Given the description of an element on the screen output the (x, y) to click on. 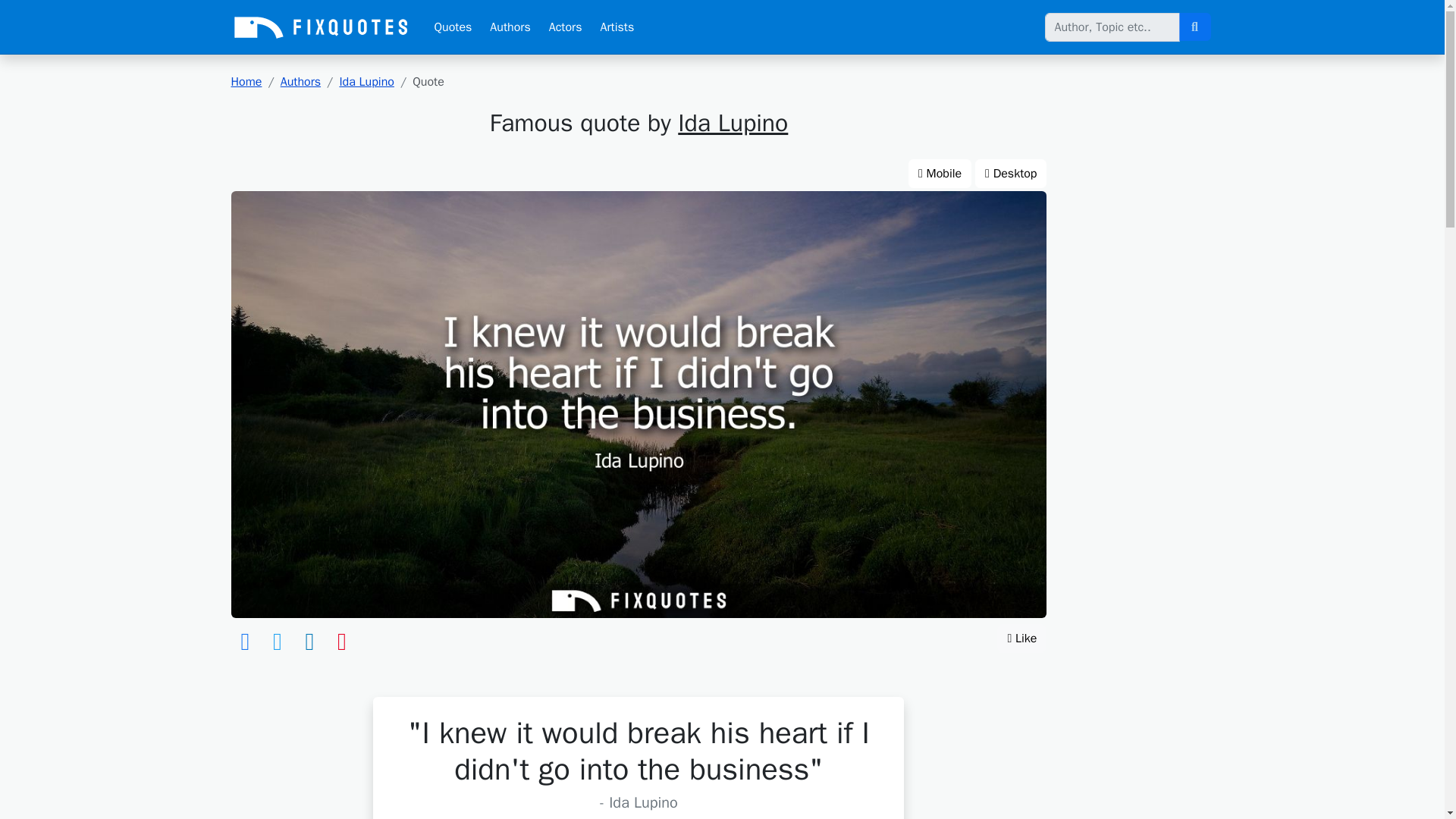
Ida Lupino (732, 122)
Home (246, 81)
Actors (565, 27)
Authors (509, 27)
Artists (617, 27)
Vote on the best quotes (1021, 638)
Ida Lupino (366, 81)
Quotes (452, 27)
Authors (300, 81)
View Desktop version (1010, 173)
View Mobile version (939, 173)
Desktop (1010, 173)
Click to search (1193, 26)
Mobile (939, 173)
